Given the description of an element on the screen output the (x, y) to click on. 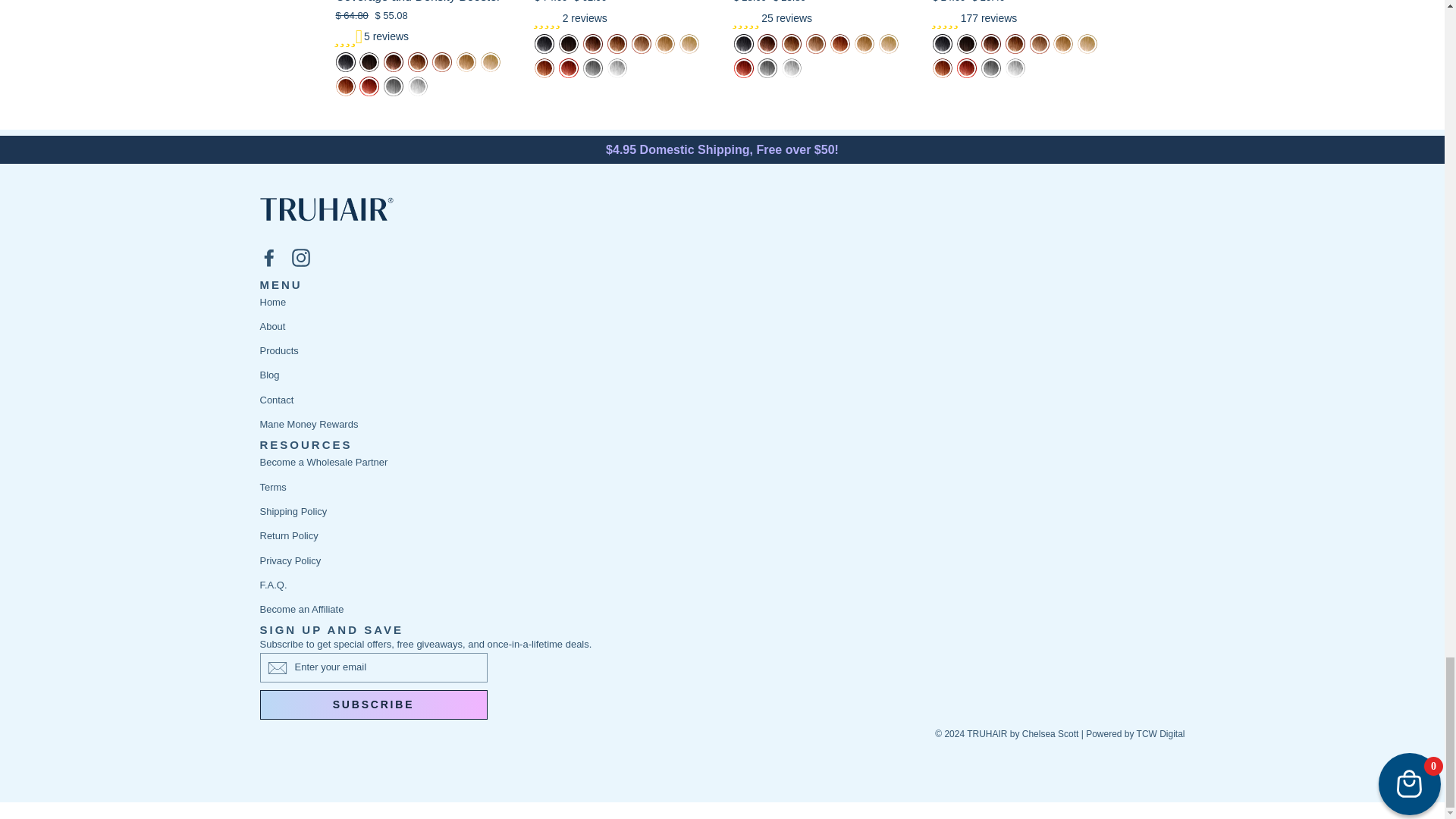
TRUHAIR by Chelsea Scott on Instagram (301, 257)
TRUHAIR by Chelsea Scott on Facebook (268, 257)
